Given the description of an element on the screen output the (x, y) to click on. 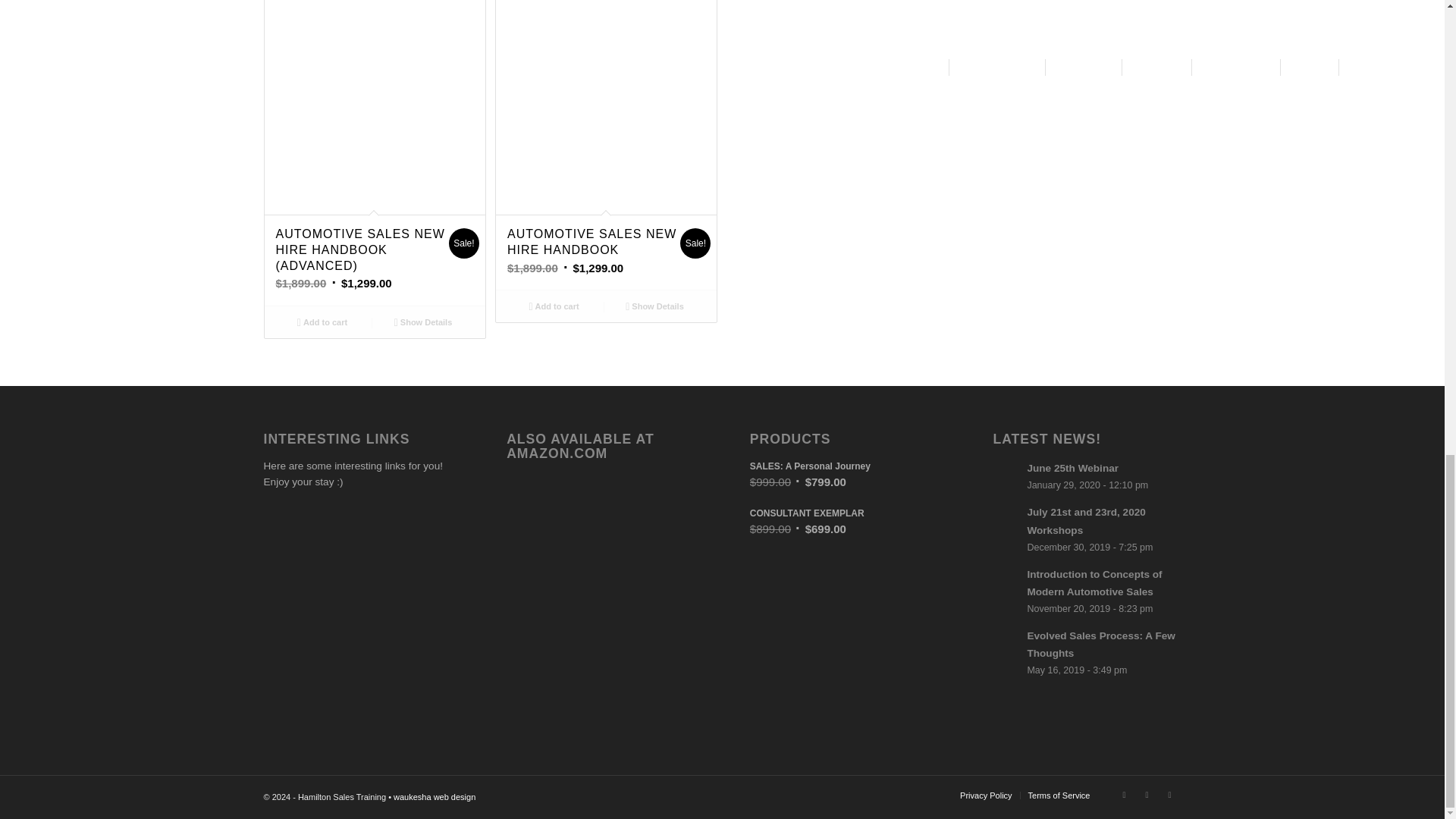
CONSULTANT EXEMPLAR (843, 513)
Show Details (422, 321)
Read: Introduction to Concepts of Modern Automotive Sales (1093, 582)
Show Details (654, 306)
Read: July 21st and 23rd, 2020 Workshops (1085, 520)
Read: Introduction to Concepts of Modern Automotive Sales (1006, 580)
Read: June 25th Webinar (1072, 468)
Read: June 25th Webinar (1006, 474)
SALES: A Personal Journey (843, 466)
Read: July 21st and 23rd, 2020 Workshops (1006, 518)
